Given the description of an element on the screen output the (x, y) to click on. 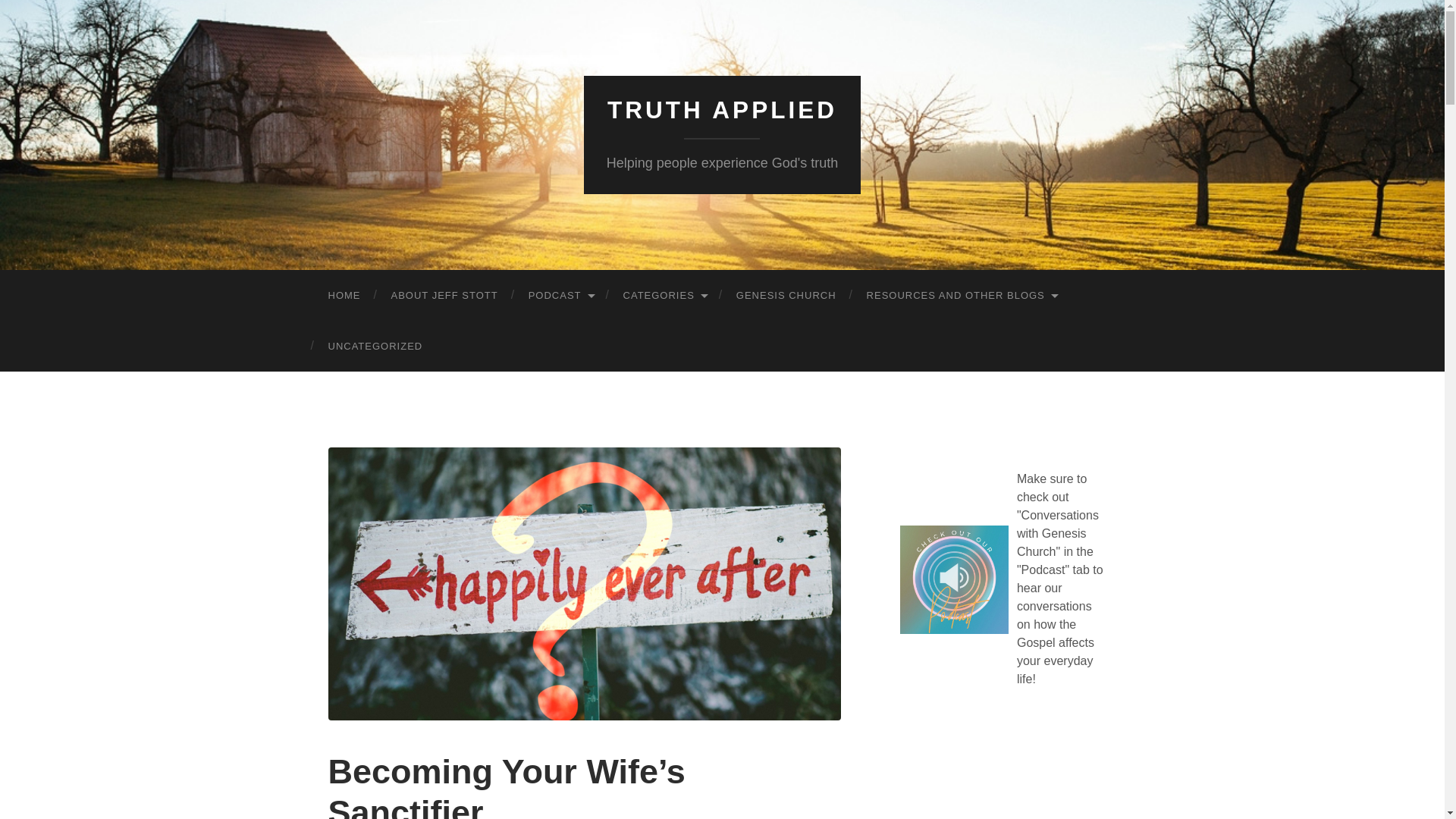
ABOUT JEFF STOTT (444, 295)
TRUTH APPLIED (722, 109)
CATEGORIES (664, 295)
HOME (344, 295)
PODCAST (560, 295)
